Given the description of an element on the screen output the (x, y) to click on. 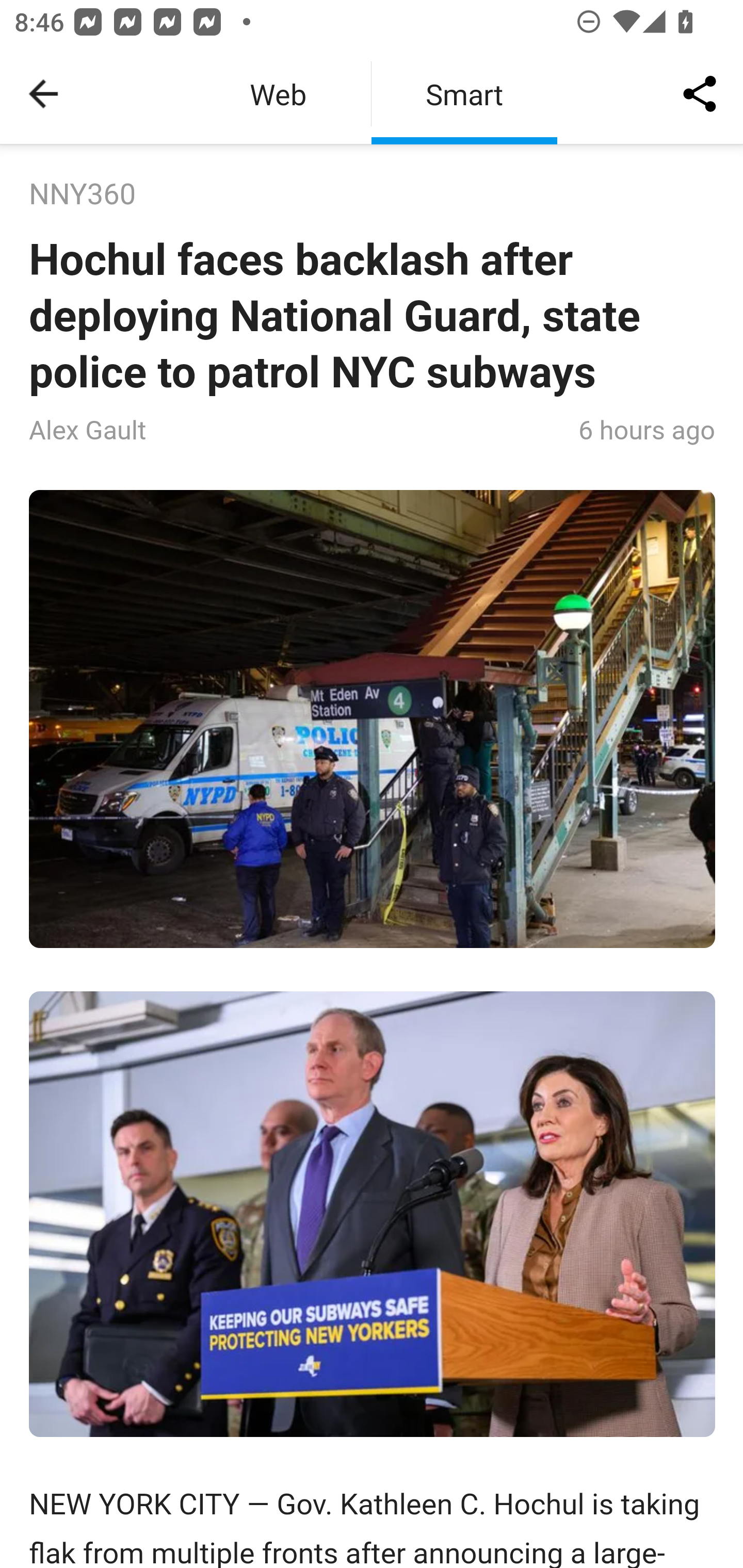
Web (277, 93)
Smart (464, 93)
NNY360 (82, 195)
